Given the description of an element on the screen output the (x, y) to click on. 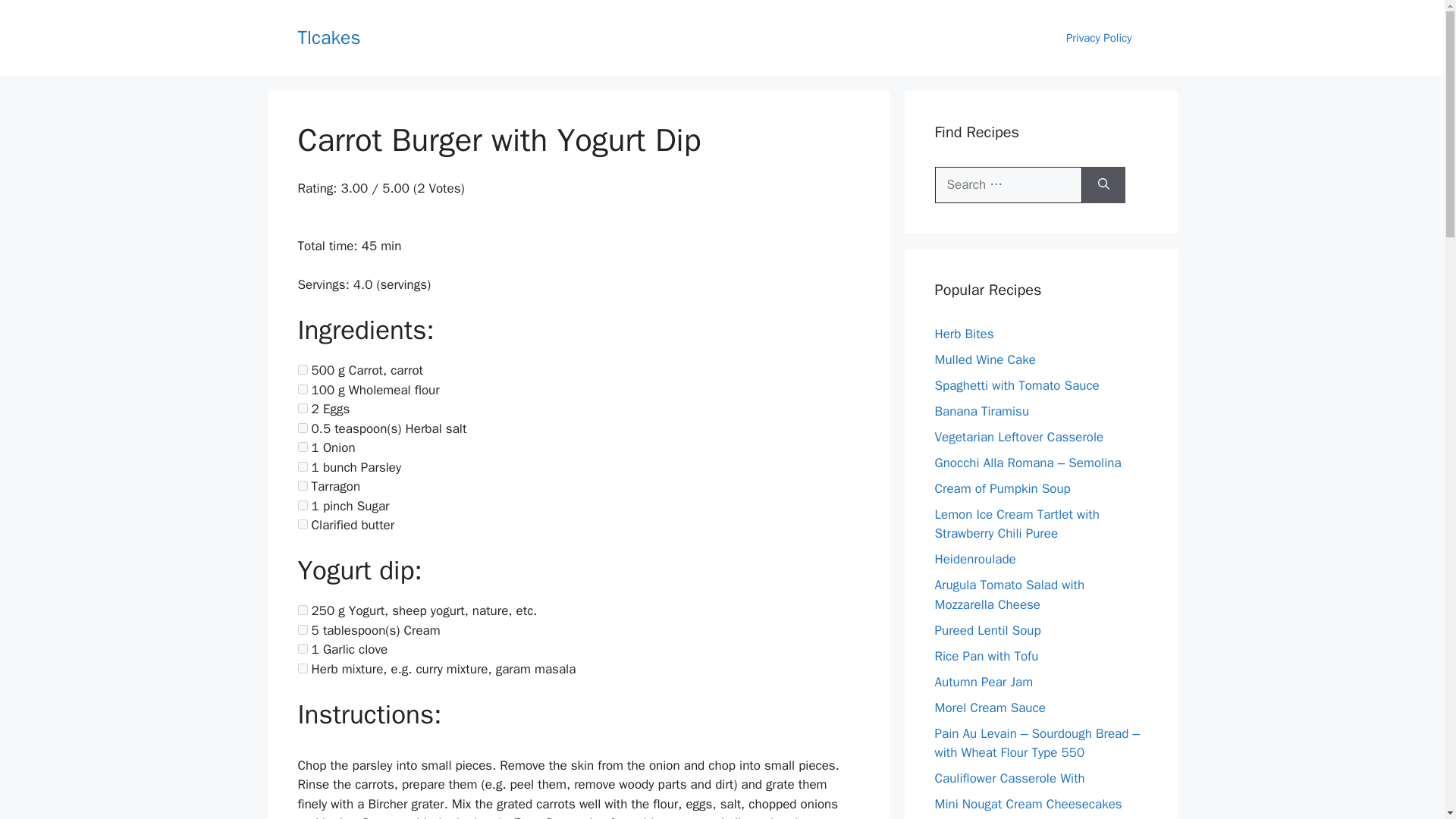
Vegetarian Leftover Casserole (1018, 437)
1 bunch Parsley (302, 466)
Herb Bites (963, 333)
500 g Carrot, carrot (302, 369)
Mini Nougat Cream Cheesecakes (1027, 804)
Arugula Tomato Salad with Mozzarella Cheese (1009, 594)
Search for: (1007, 185)
1  Onion (302, 447)
Morel Cream Sauce (989, 706)
Privacy Policy (1099, 37)
